Given the description of an element on the screen output the (x, y) to click on. 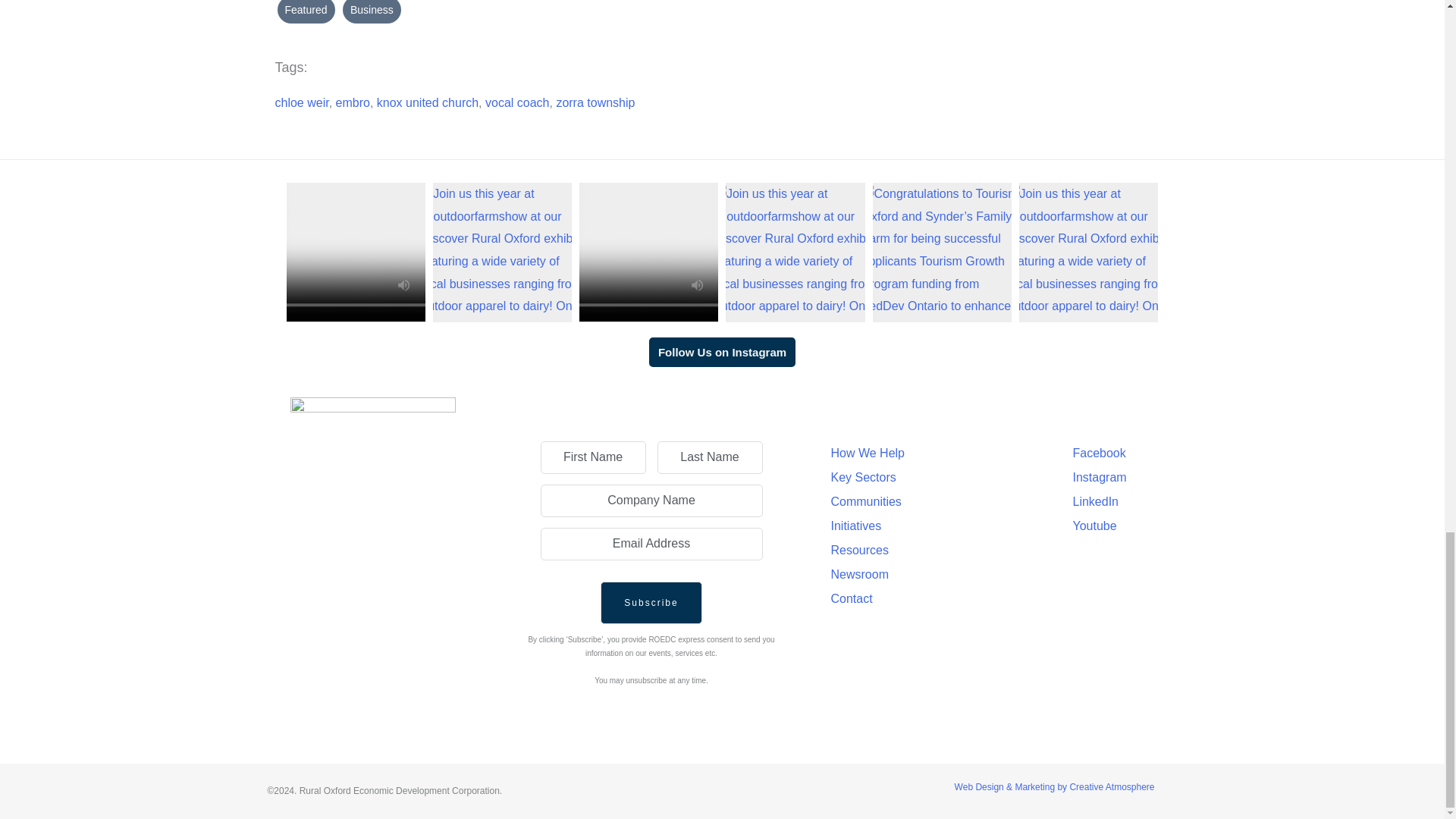
vocal coach (517, 101)
zorra township (595, 101)
Business (371, 11)
knox united church (428, 101)
Featured (306, 11)
chloe weir (302, 101)
embro (352, 101)
